Given the description of an element on the screen output the (x, y) to click on. 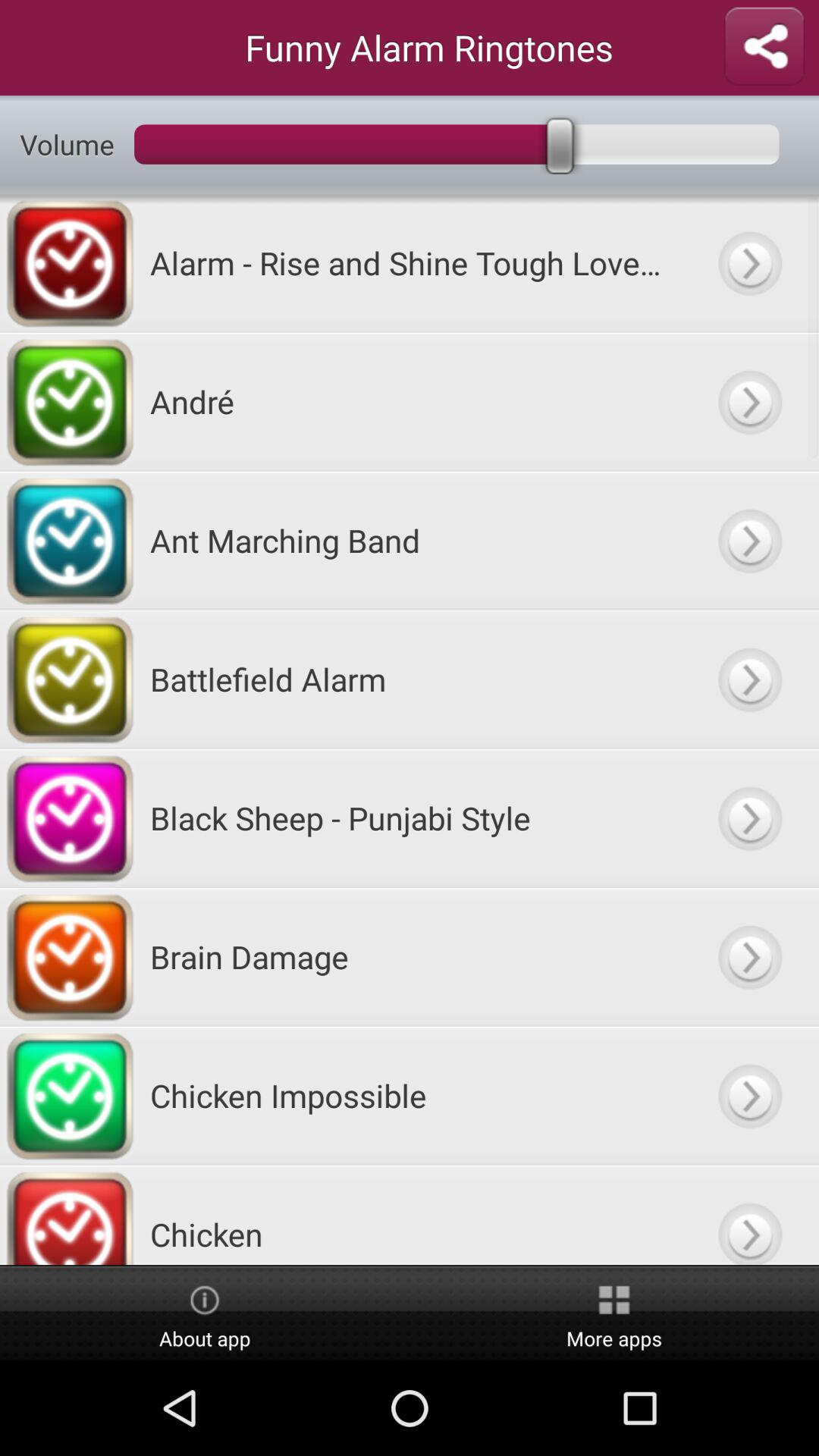
go forward (749, 1214)
